Given the description of an element on the screen output the (x, y) to click on. 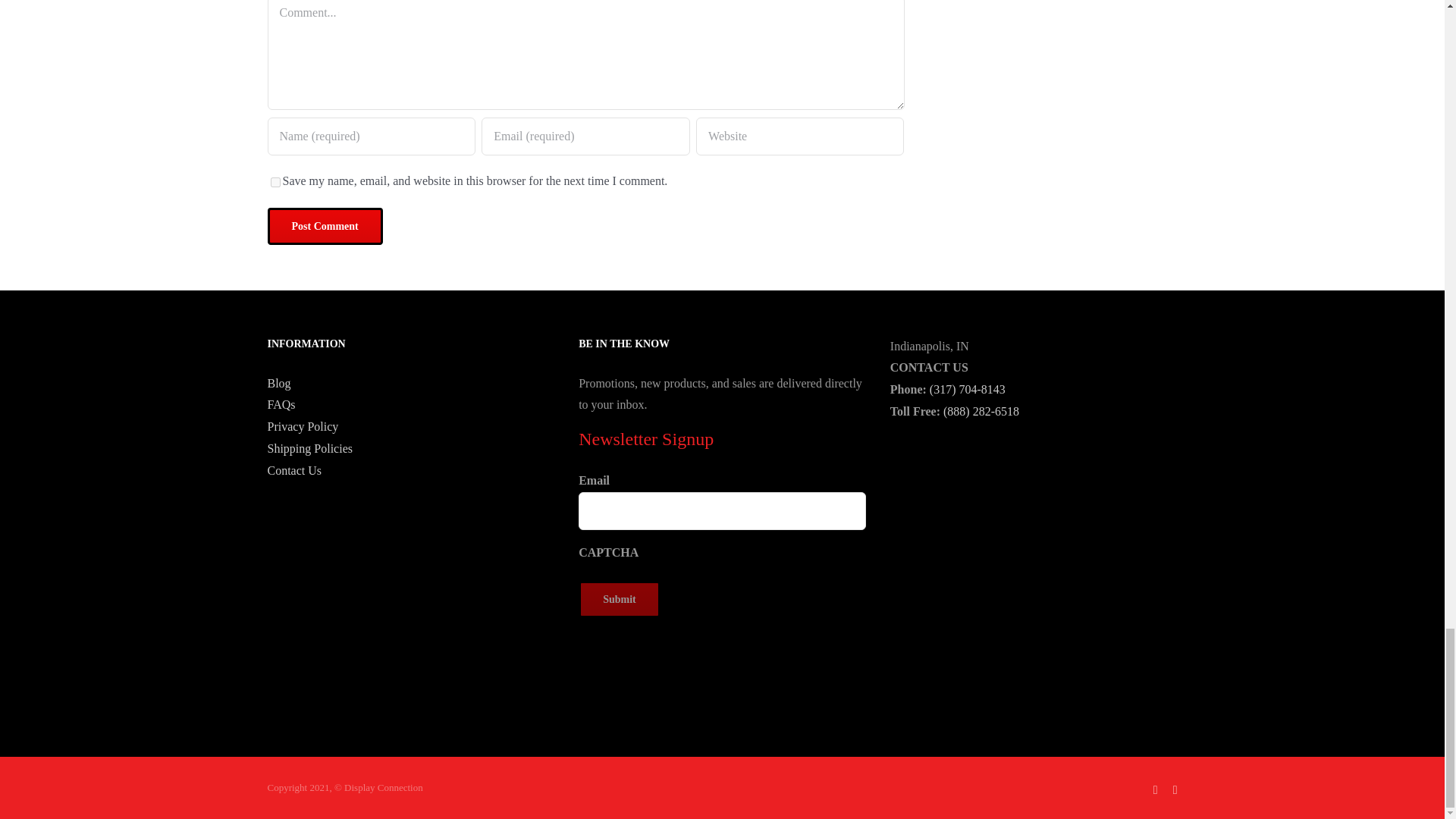
yes (274, 182)
Post Comment (323, 226)
Submit (619, 599)
